Given the description of an element on the screen output the (x, y) to click on. 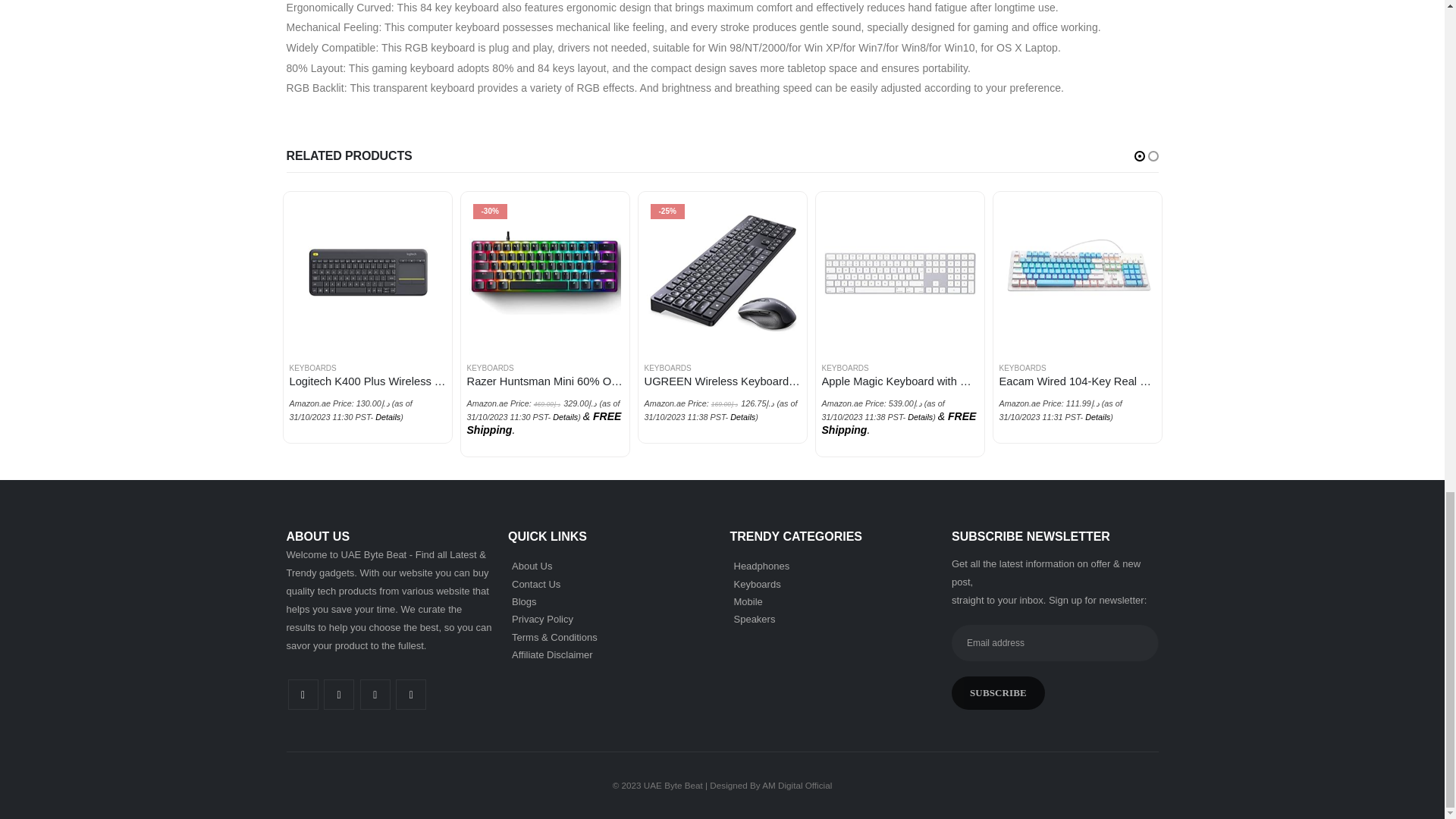
SUBSCRIBE (998, 693)
